Given the description of an element on the screen output the (x, y) to click on. 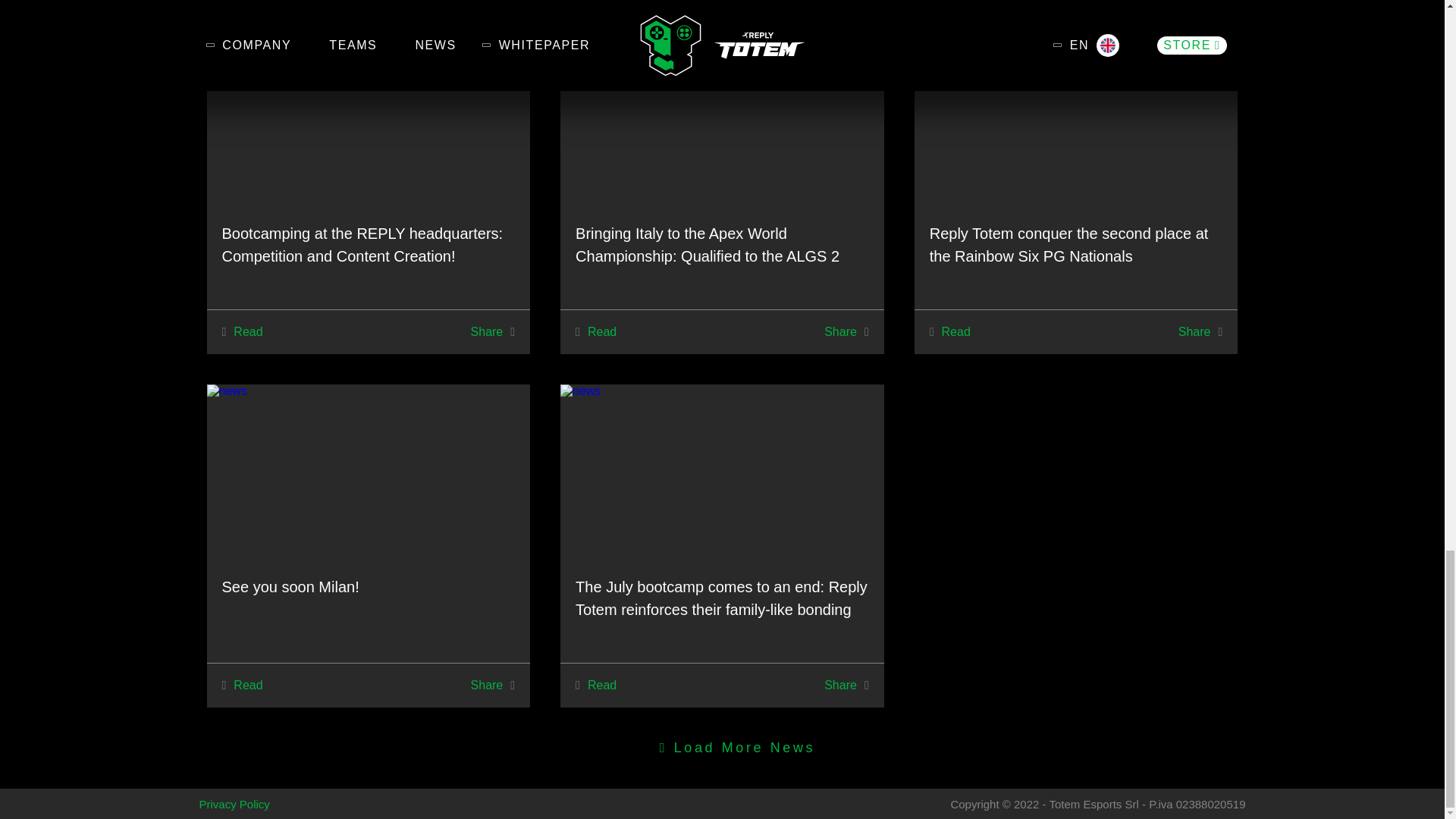
Read (954, 332)
Read (599, 332)
Read (245, 332)
